Given the description of an element on the screen output the (x, y) to click on. 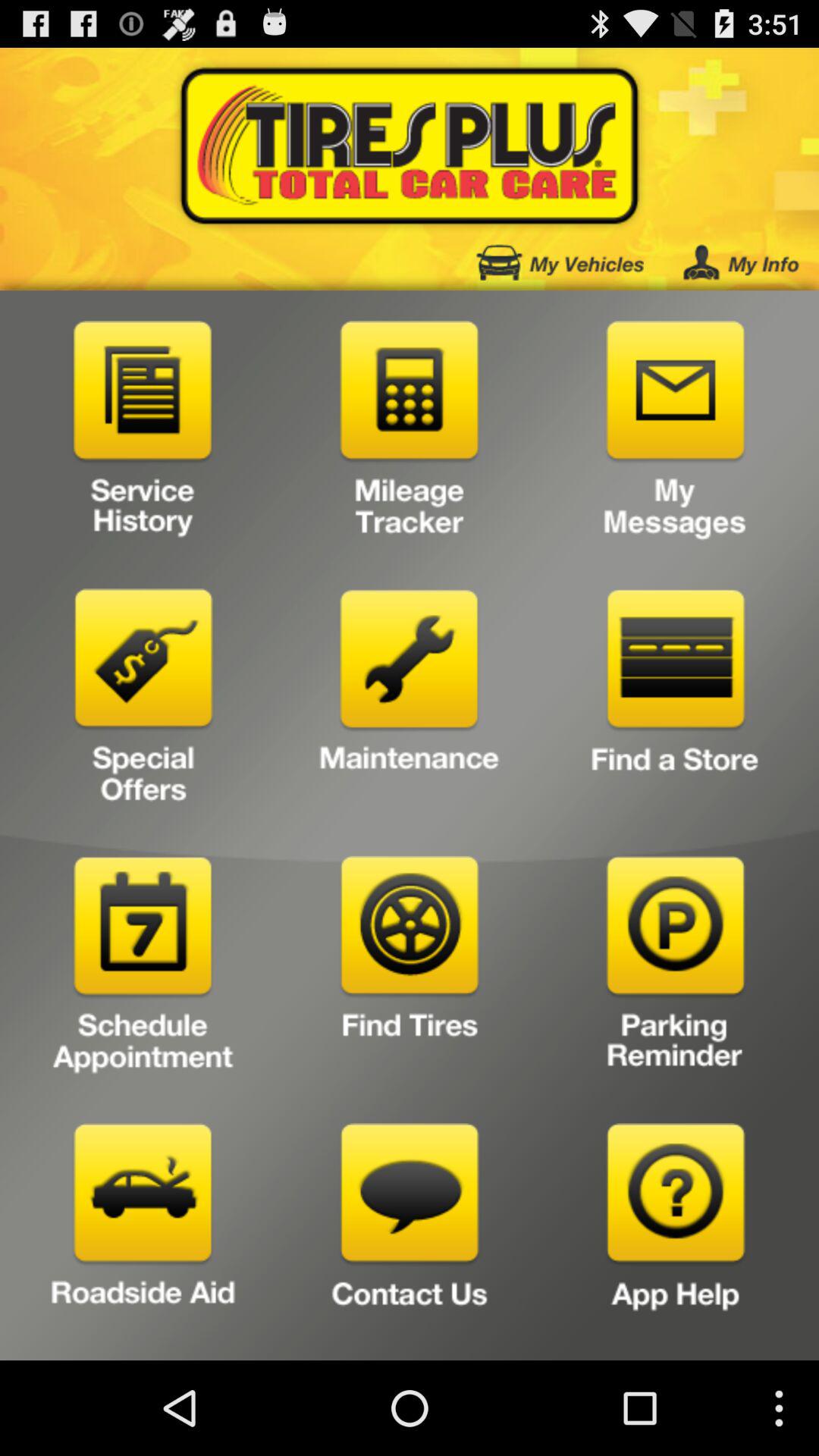
turn on the icon at the bottom right corner (675, 1236)
